Given the description of an element on the screen output the (x, y) to click on. 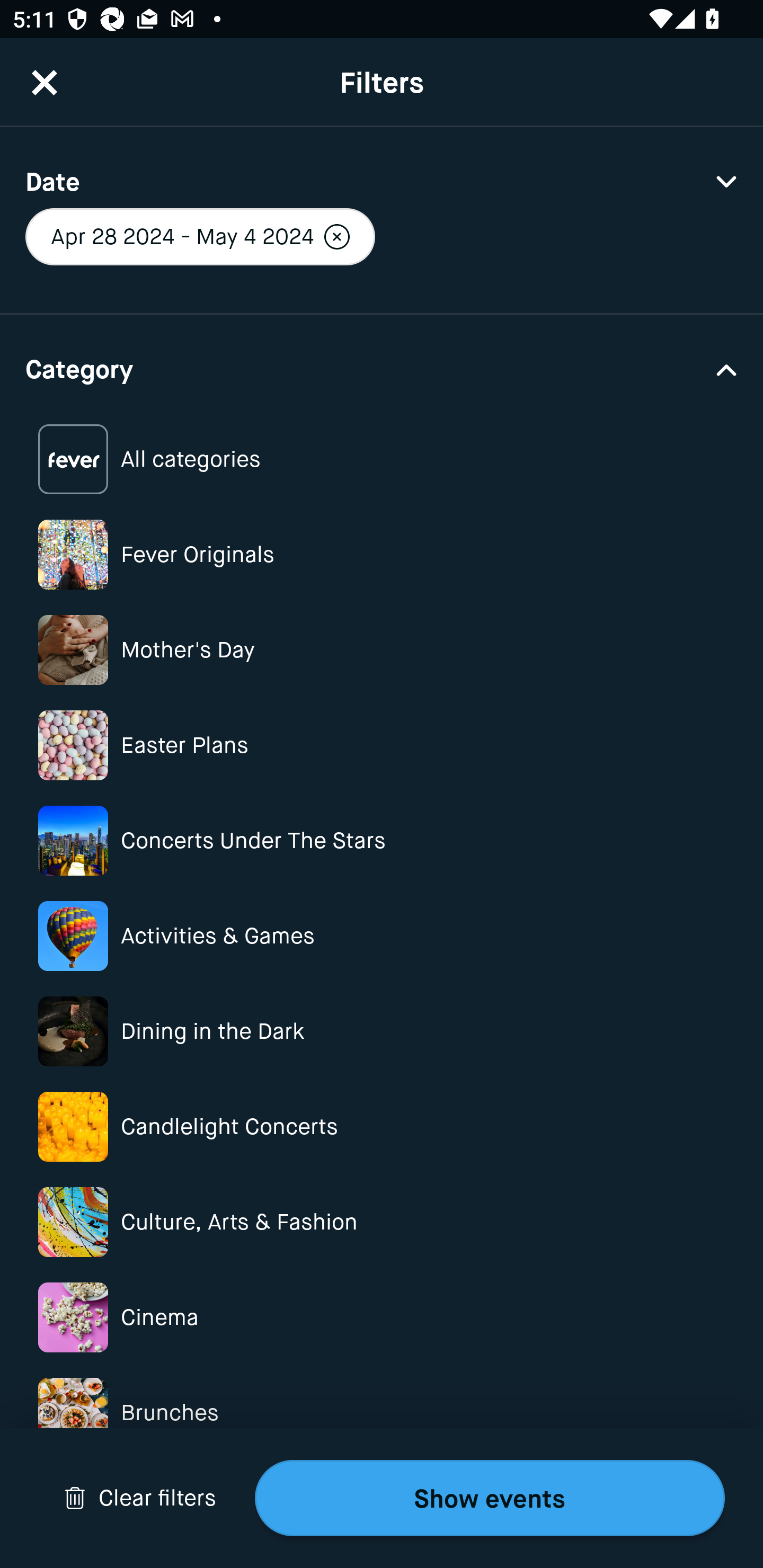
CloseButton (44, 82)
Apr 28 2024 - May 4 2024 Localized description (200, 236)
Category Drop Down Arrow (381, 368)
Category Image All categories (381, 459)
Category Image Fever Originals (381, 553)
Category Image Mother's Day (381, 649)
Category Image Easter Plans (381, 745)
Category Image Concerts Under The Stars (381, 840)
Category Image Activities & Games (381, 935)
Category Image Dining in the Dark (381, 1030)
Category Image Candlelight Concerts (381, 1126)
Category Image Culture, Arts & Fashion (381, 1221)
Category Image Cinema (381, 1317)
Category Image Brunches (381, 1412)
Drop Down Arrow Clear filters (139, 1497)
Show events (489, 1497)
